Given the description of an element on the screen output the (x, y) to click on. 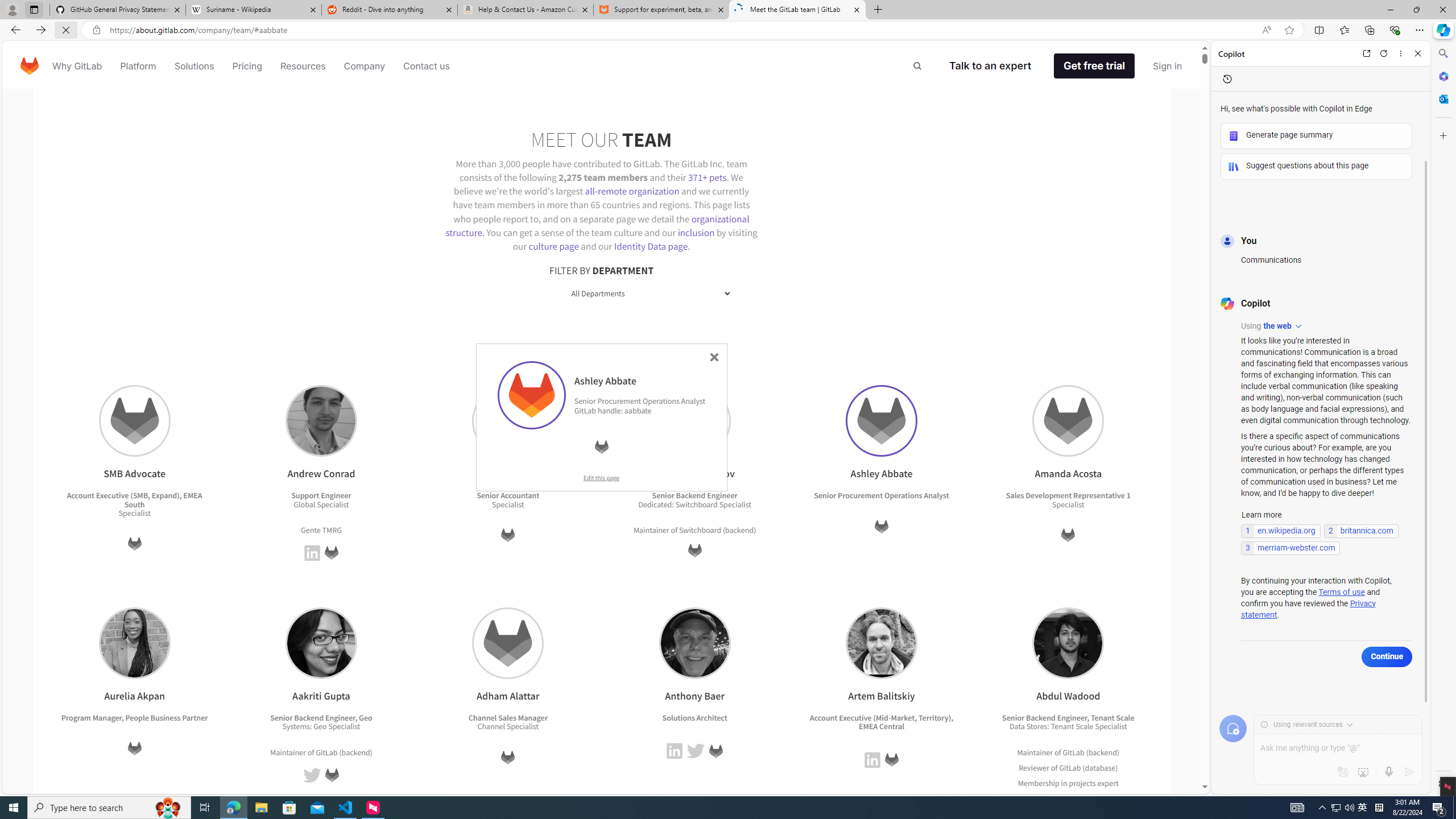
all-remote organization (632, 191)
SMB Advocate (134, 420)
Switchboard (700, 529)
Senior Backend Engineer, Geo (321, 717)
Andrey Ruzmanov (694, 420)
Platform (138, 65)
Maintainer of Switchboard (backend) (695, 529)
Aakriti Gupta (320, 642)
SMB Advocate (134, 420)
